Given the description of an element on the screen output the (x, y) to click on. 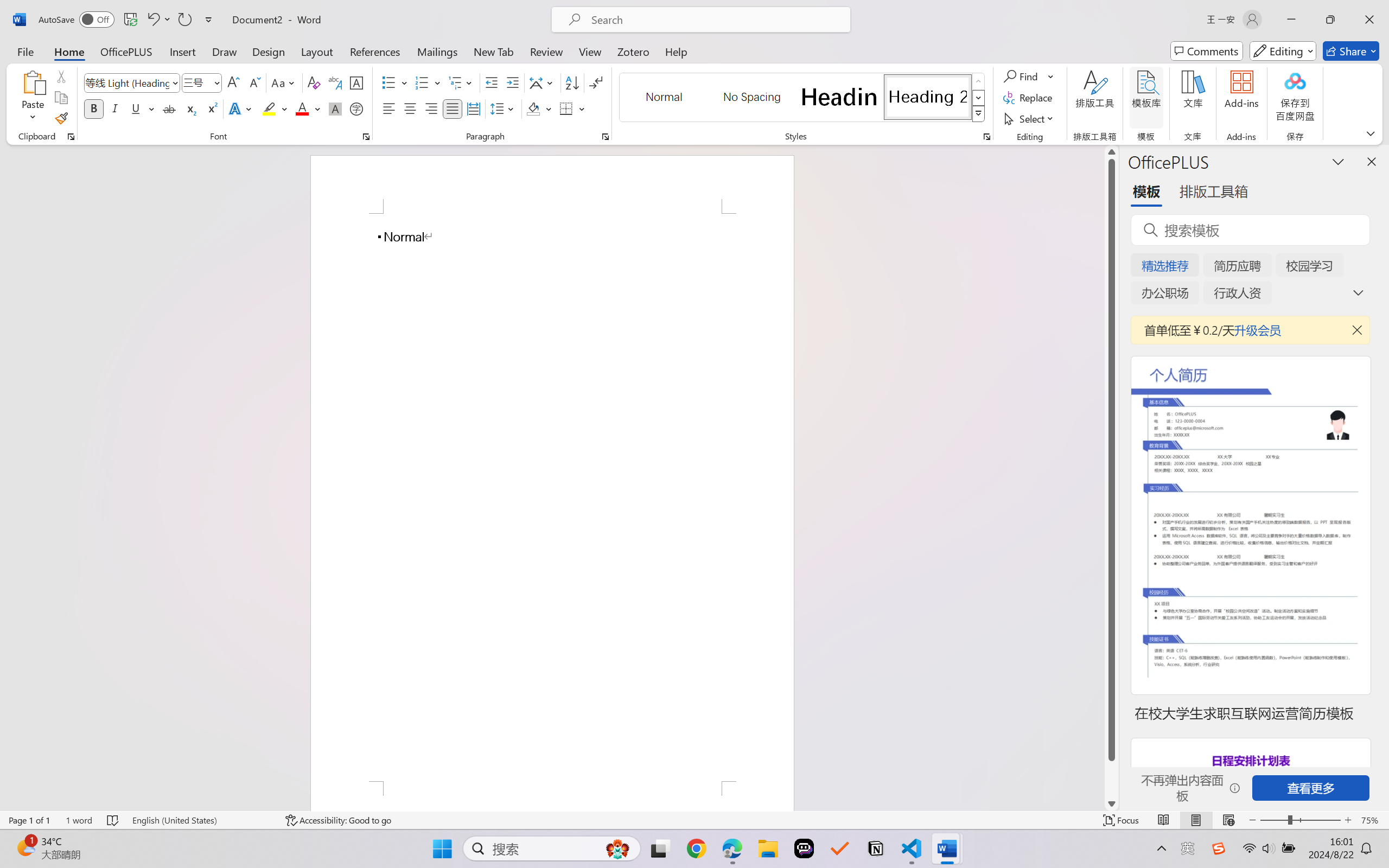
Character Border (356, 82)
Select (1030, 118)
Mode (1283, 50)
Print Layout (1196, 819)
More Options (1051, 75)
Distributed (473, 108)
Justify (452, 108)
Zoom Out (1273, 819)
Center (409, 108)
Character Shading (334, 108)
Underline (142, 108)
Language English (United States) (201, 819)
Layout (316, 51)
Class: Image (1218, 847)
